Given the description of an element on the screen output the (x, y) to click on. 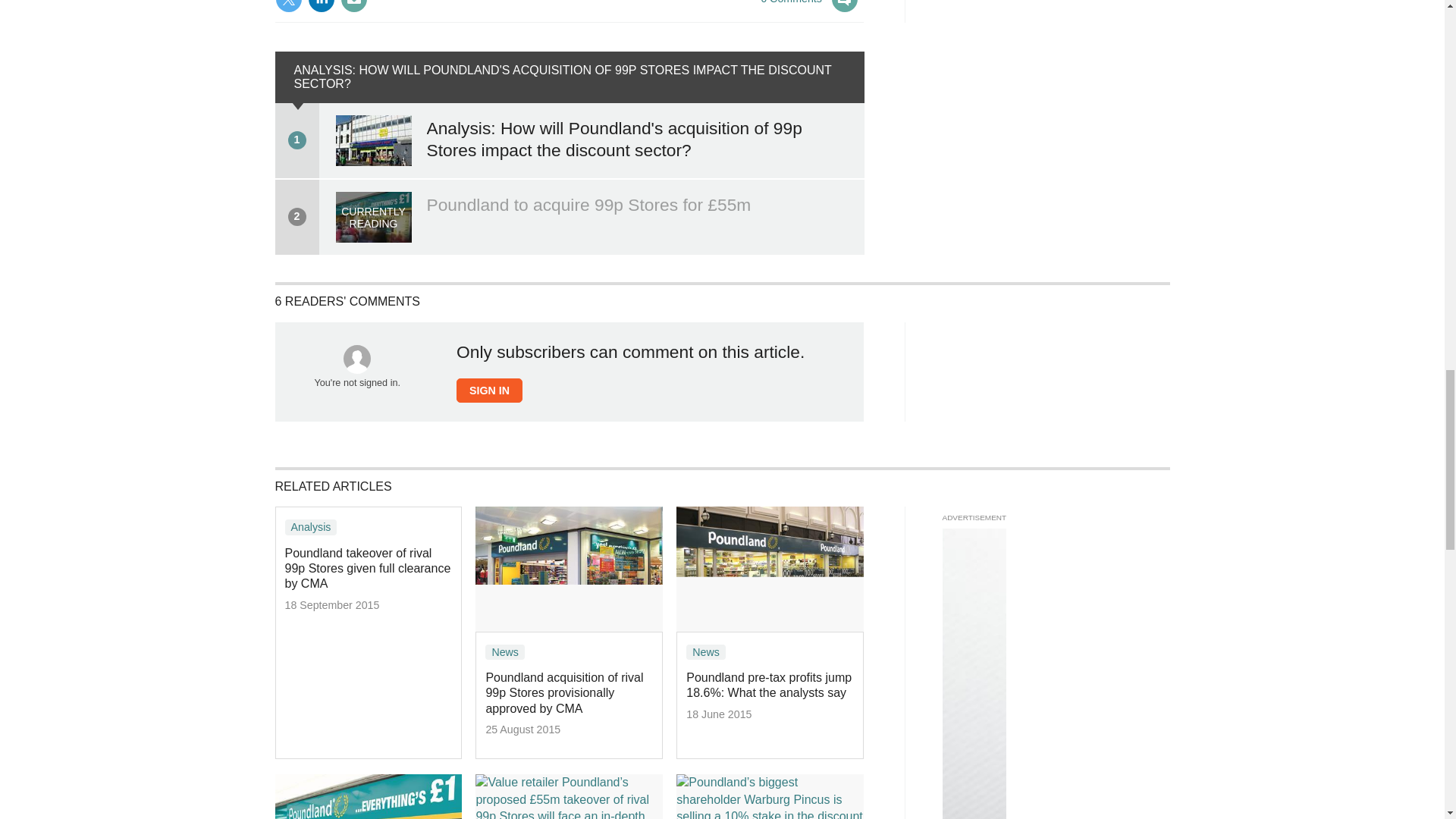
6 Comments (809, 7)
Email this article (352, 6)
Share this on Linked in (320, 6)
Share this on Twitter (288, 6)
